Given the description of an element on the screen output the (x, y) to click on. 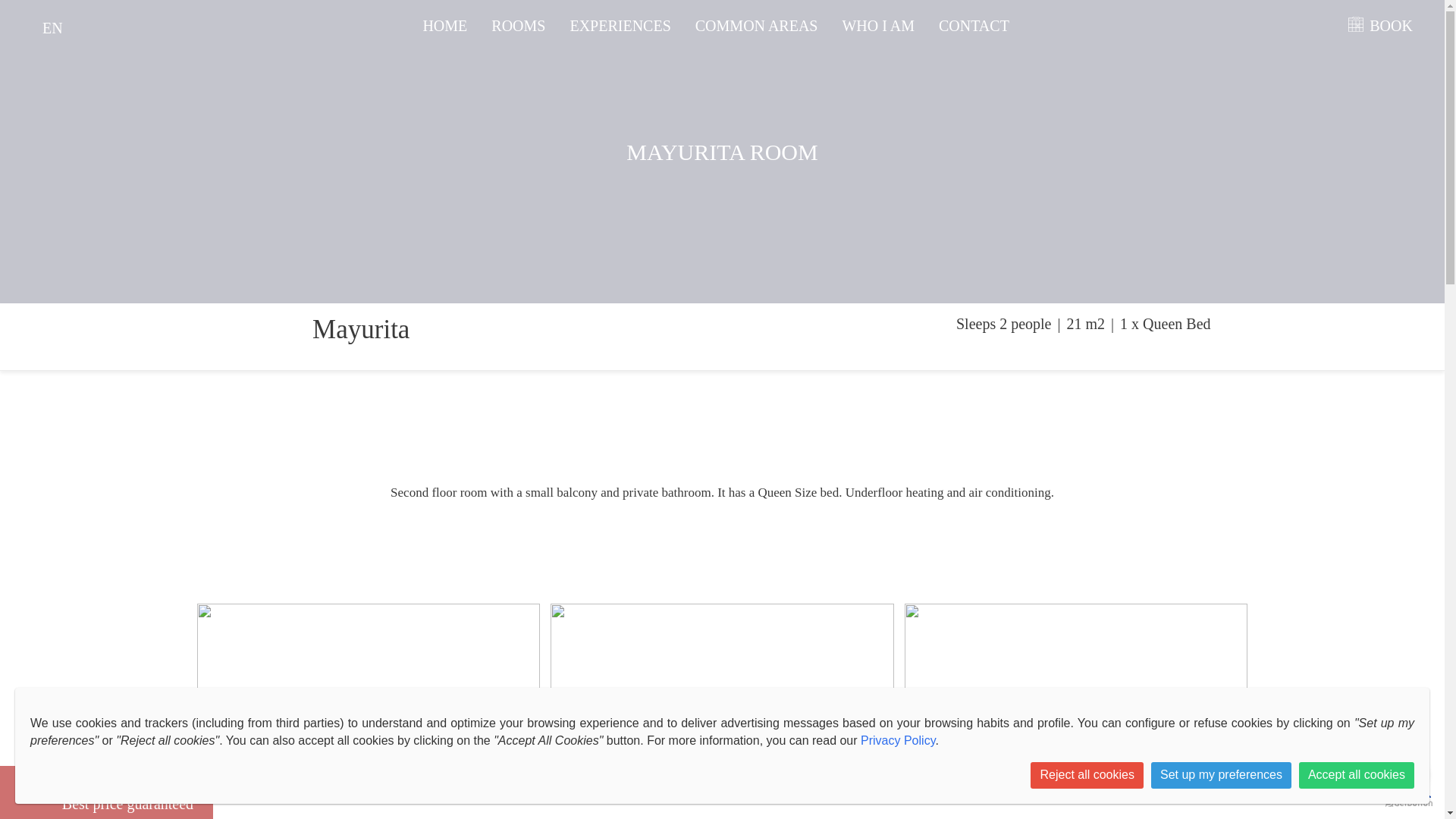
EN (51, 28)
CONTACT (974, 24)
ROOMS (518, 24)
WHO I AM (877, 24)
HOME (444, 24)
BOOK (1387, 24)
COMMON AREAS (756, 24)
EXPERIENCES (106, 792)
